Given the description of an element on the screen output the (x, y) to click on. 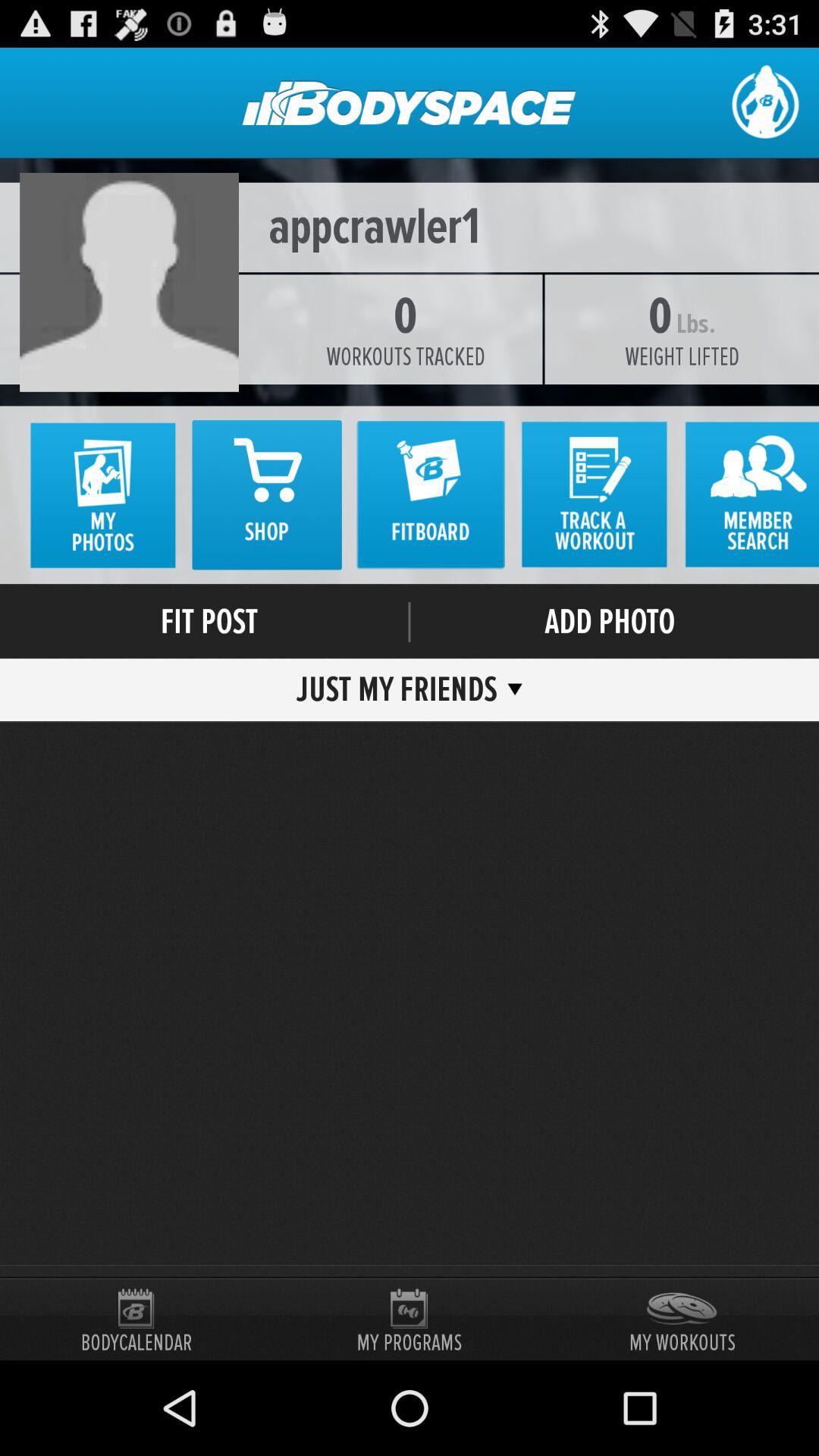
turn off the icon next to 0 item (695, 323)
